Given the description of an element on the screen output the (x, y) to click on. 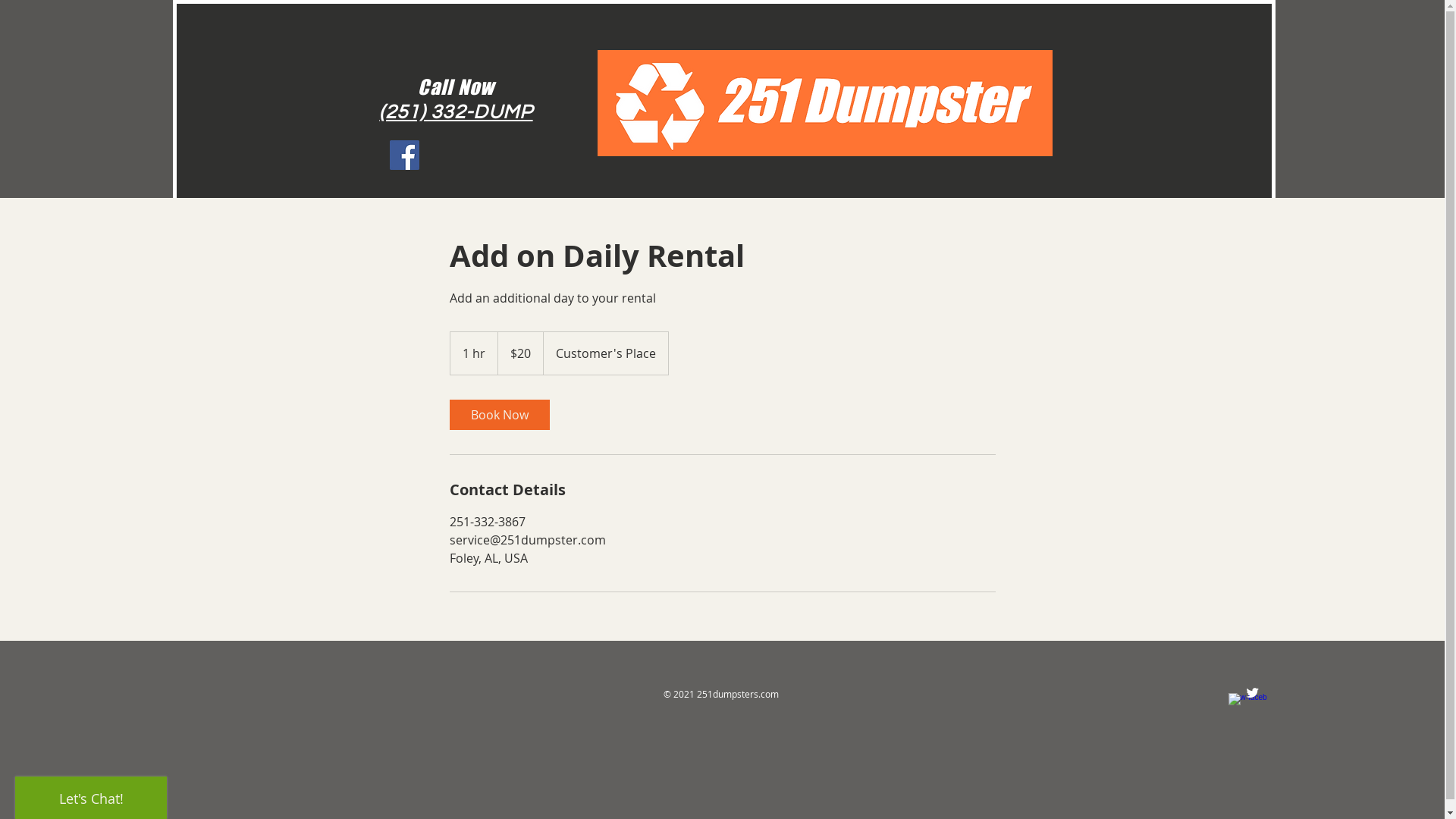
Book Now Element type: text (498, 414)
(251) 332-DUMP Element type: text (455, 112)
